Given the description of an element on the screen output the (x, y) to click on. 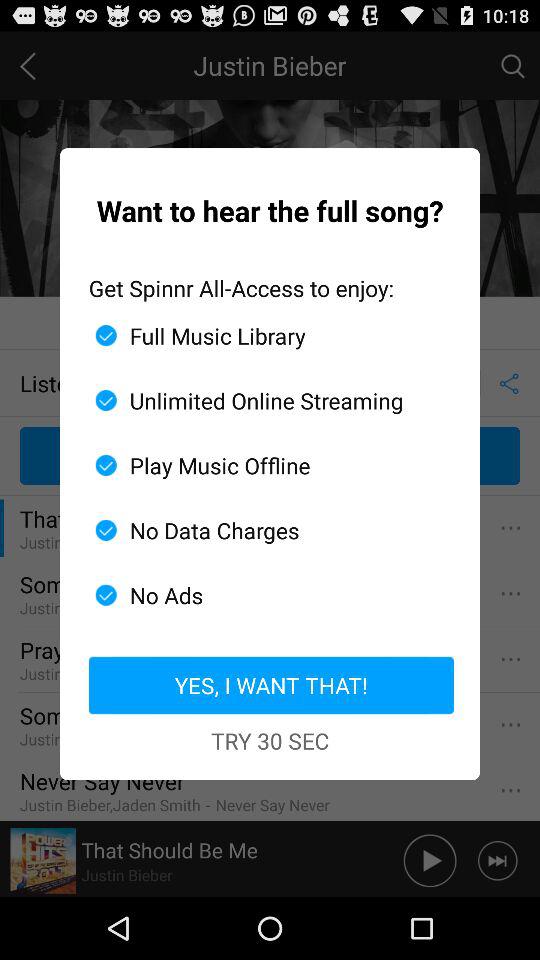
click try 30 sec icon (270, 740)
